Given the description of an element on the screen output the (x, y) to click on. 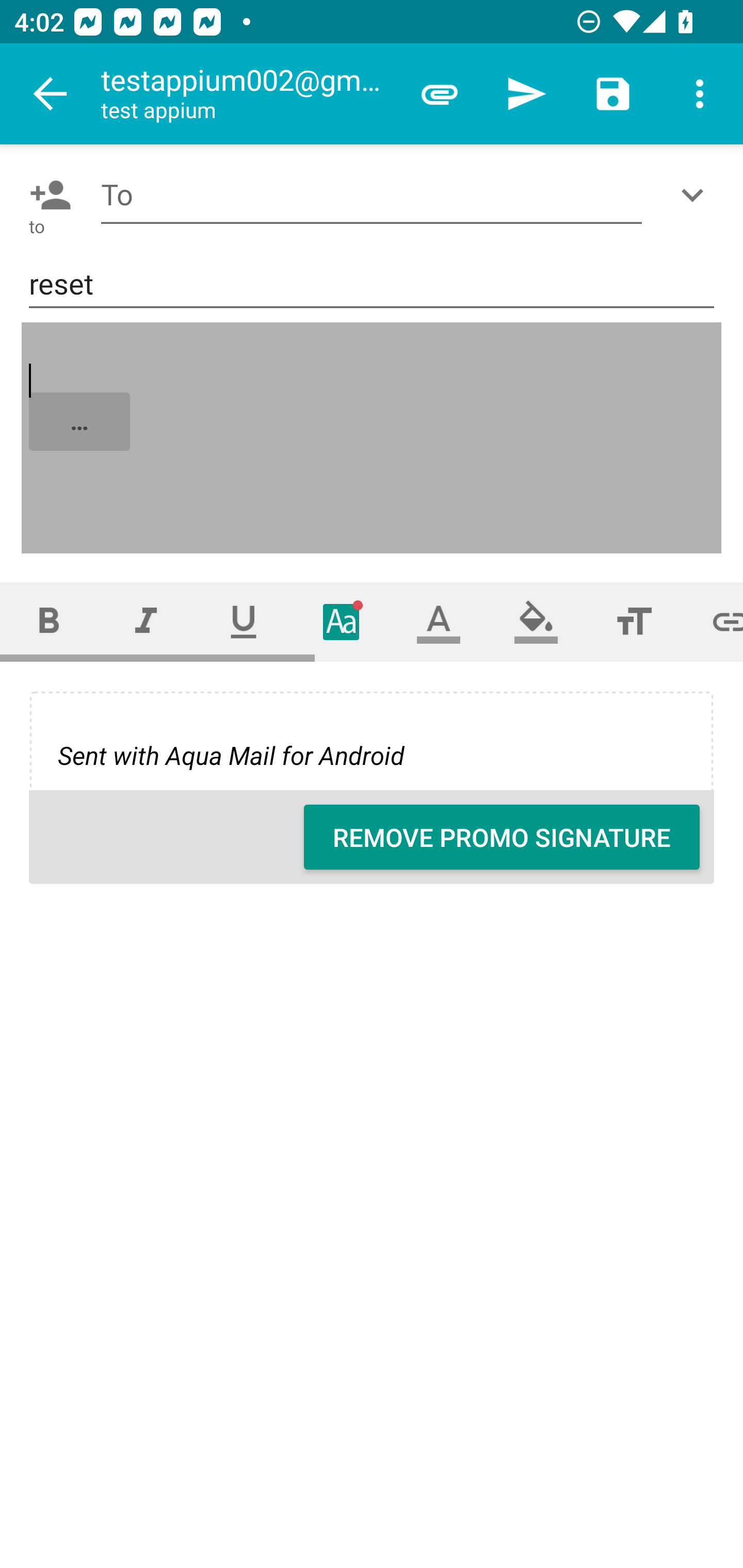
Navigate up (50, 93)
testappium002@gmail.com test appium (248, 93)
Attach (439, 93)
Send (525, 93)
Save (612, 93)
More options (699, 93)
Pick contact: To (46, 195)
Show/Add CC/BCC (696, 195)
To (371, 195)
reset (371, 284)

…
 (372, 438)
Bold (48, 621)
Italic (145, 621)
Underline (243, 621)
Typeface (font) (341, 621)
Text color (438, 621)
Fill color (536, 621)
Font size (633, 621)
REMOVE PROMO SIGNATURE (501, 837)
